Given the description of an element on the screen output the (x, y) to click on. 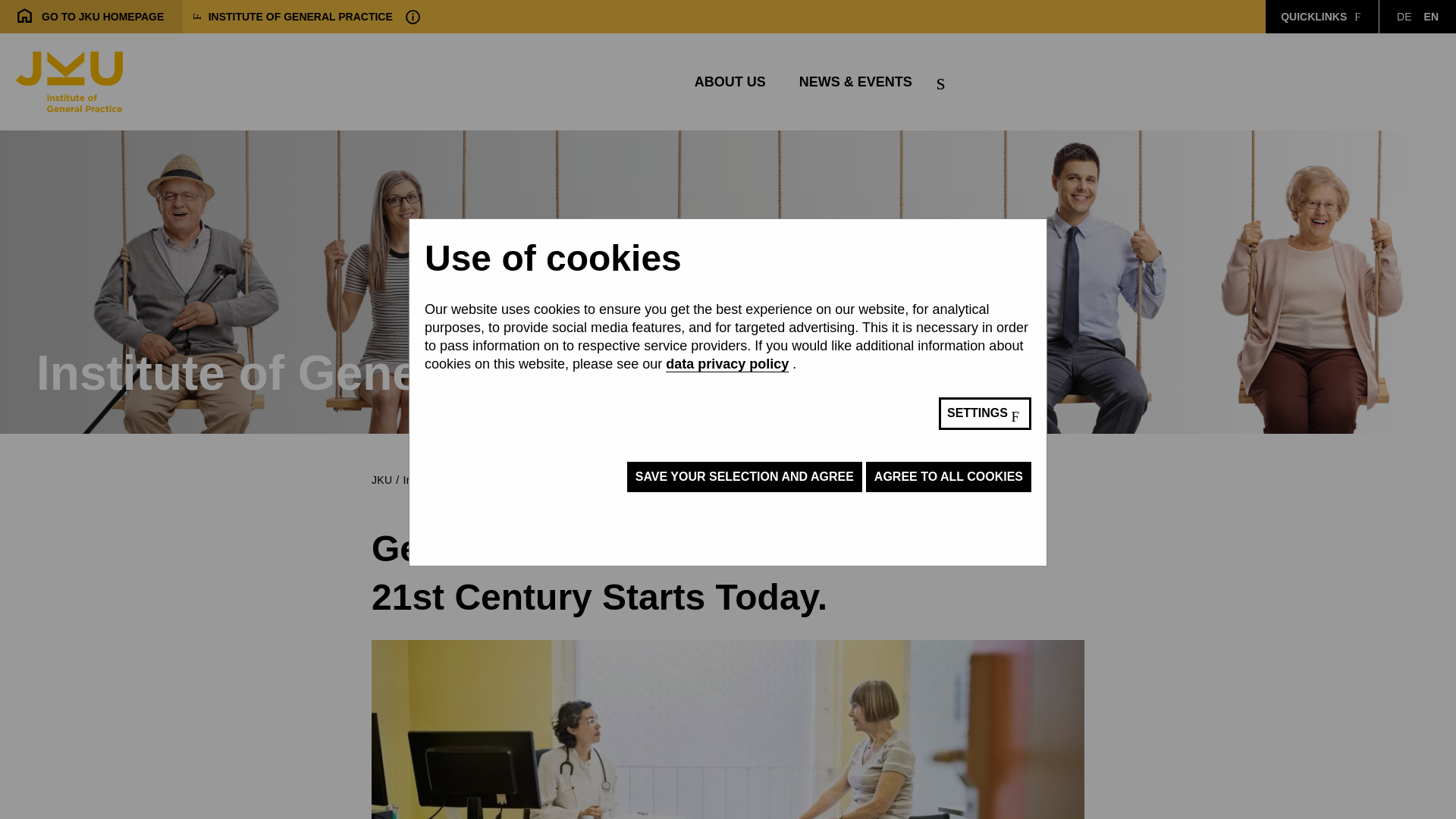
GO TO JKU HOMEPAGE (91, 16)
QUICKLINKS (1403, 16)
